Given the description of an element on the screen output the (x, y) to click on. 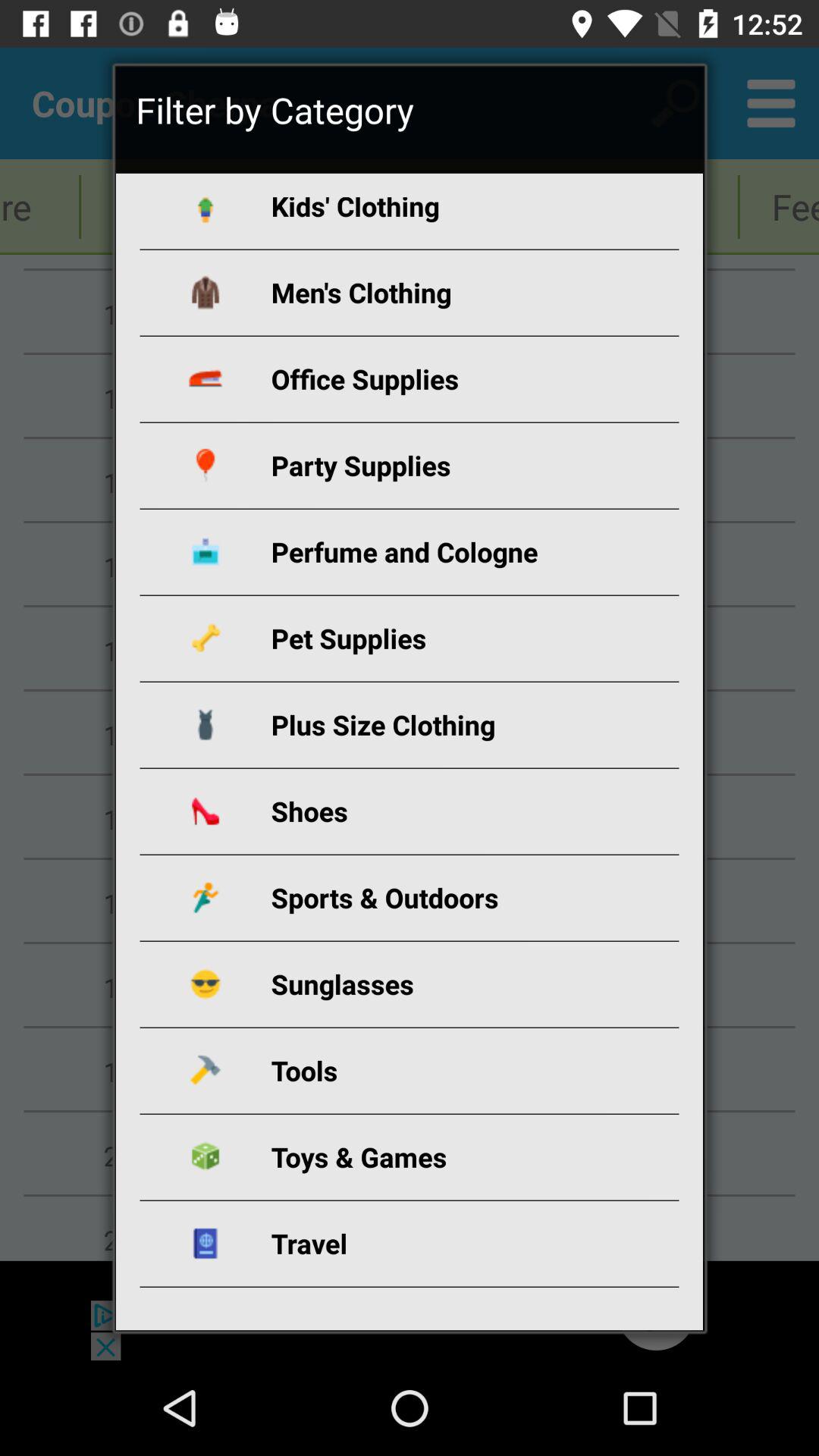
turn on the item below the pet supplies item (427, 724)
